Given the description of an element on the screen output the (x, y) to click on. 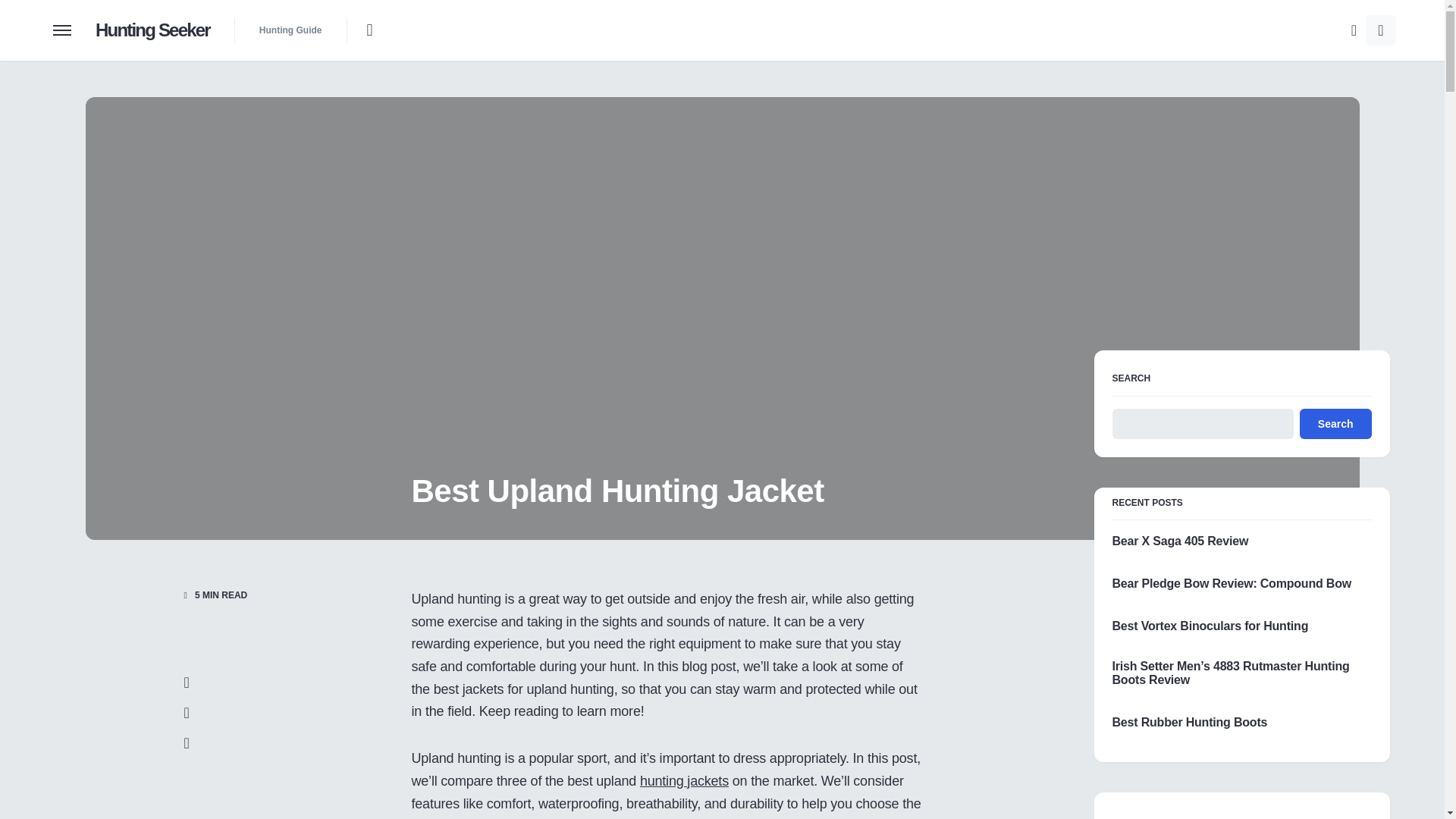
hunting jackets (684, 780)
Hunting Seeker (152, 30)
